Given the description of an element on the screen output the (x, y) to click on. 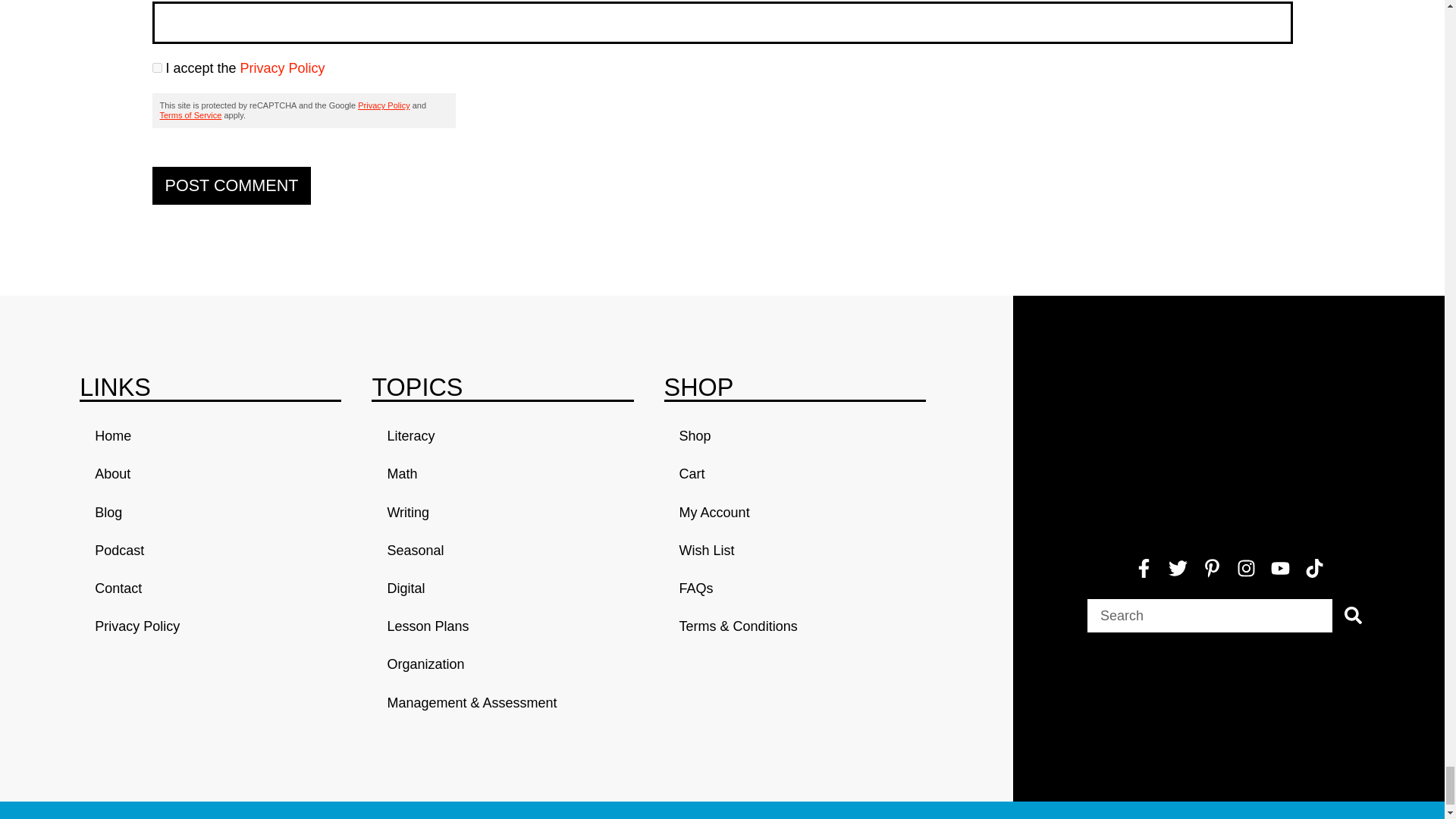
Post Comment (231, 185)
1 (156, 67)
